Given the description of an element on the screen output the (x, y) to click on. 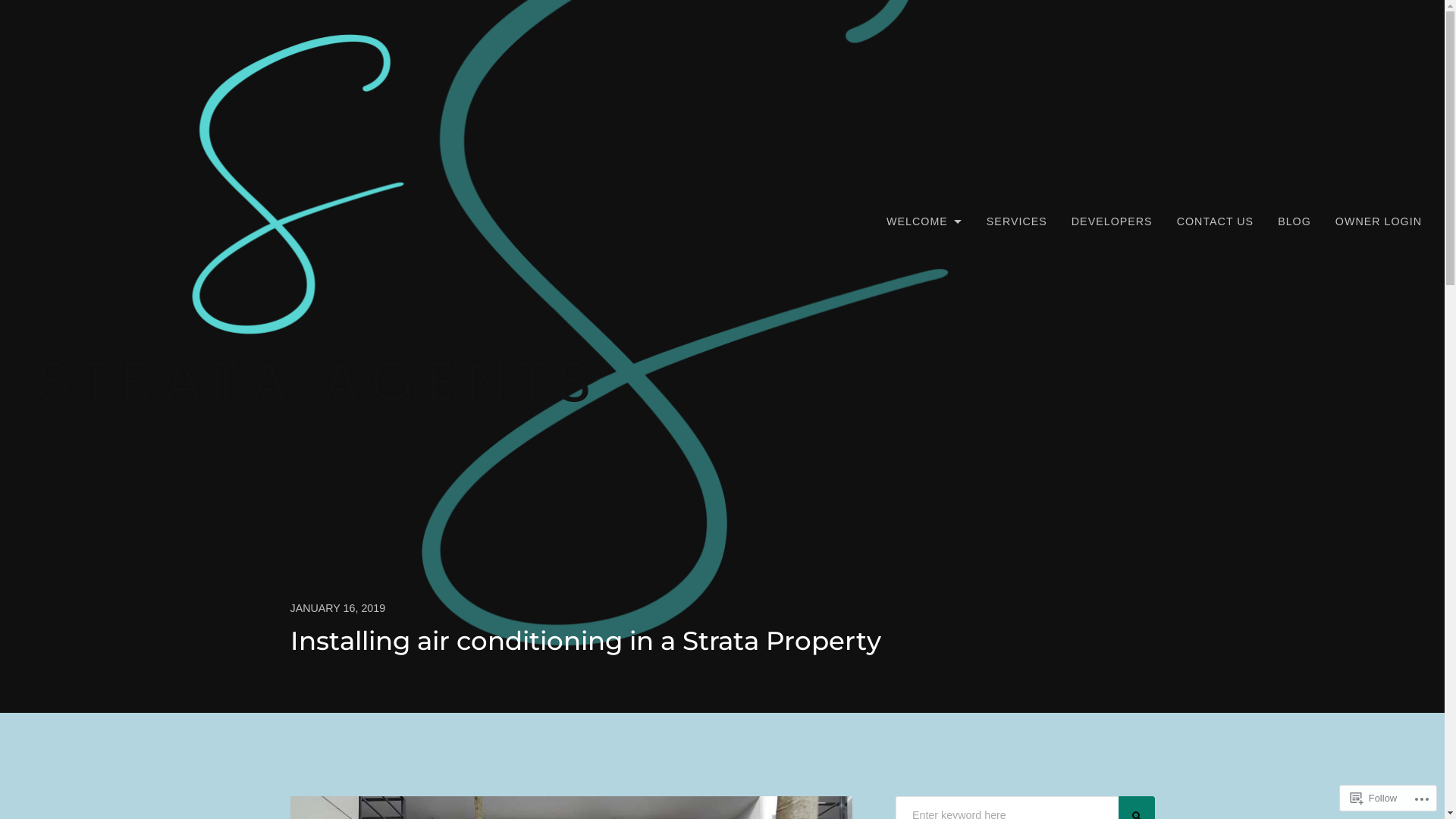
CONTACT US Element type: text (1215, 221)
Follow Element type: text (1373, 797)
BLOG Element type: text (1294, 221)
SERVICES Element type: text (1016, 221)
STRATA MANAGEMENT Element type: text (157, 436)
DEVELOPERS Element type: text (1111, 221)
WELCOME Element type: text (924, 221)
OWNER LOGIN Element type: text (1378, 221)
JANUARY 16, 2019 Element type: text (721, 608)
